Given the description of an element on the screen output the (x, y) to click on. 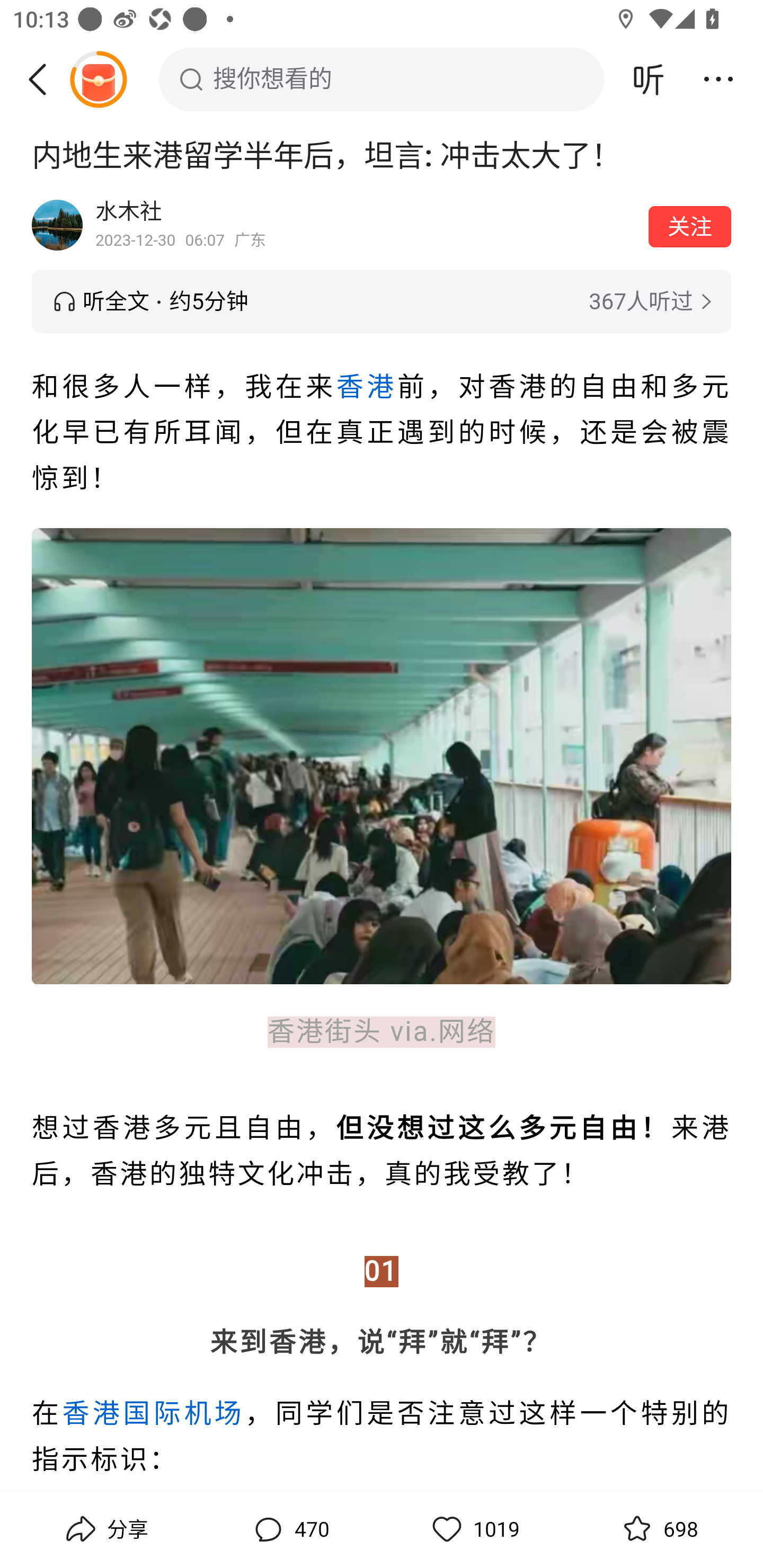
返回 (44, 78)
听头条 (648, 78)
更多操作 (718, 78)
搜你想看的 搜索框，搜你想看的 (381, 79)
阅读赚金币 (98, 79)
作者：水木社，2023-12-30 06:07发布，广东 (365, 224)
关注作者 (689, 226)
听全文 约5分钟 367人听过 (381, 300)
图片，点击识别内容 (381, 755)
分享 (104, 1529)
评论,470 470 (288, 1529)
收藏,698 698 (658, 1529)
